Given the description of an element on the screen output the (x, y) to click on. 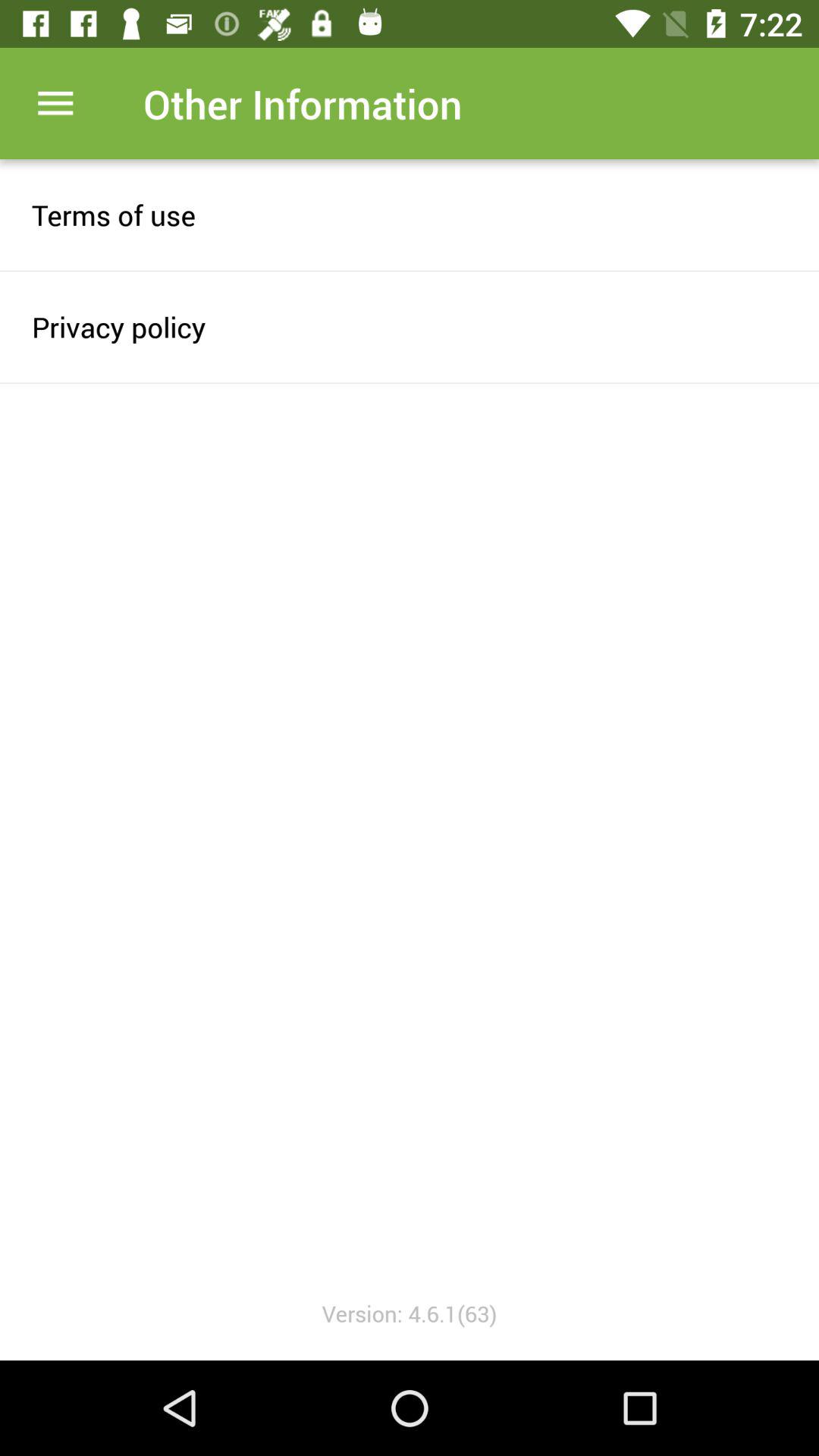
turn on the item below terms of use (409, 326)
